Given the description of an element on the screen output the (x, y) to click on. 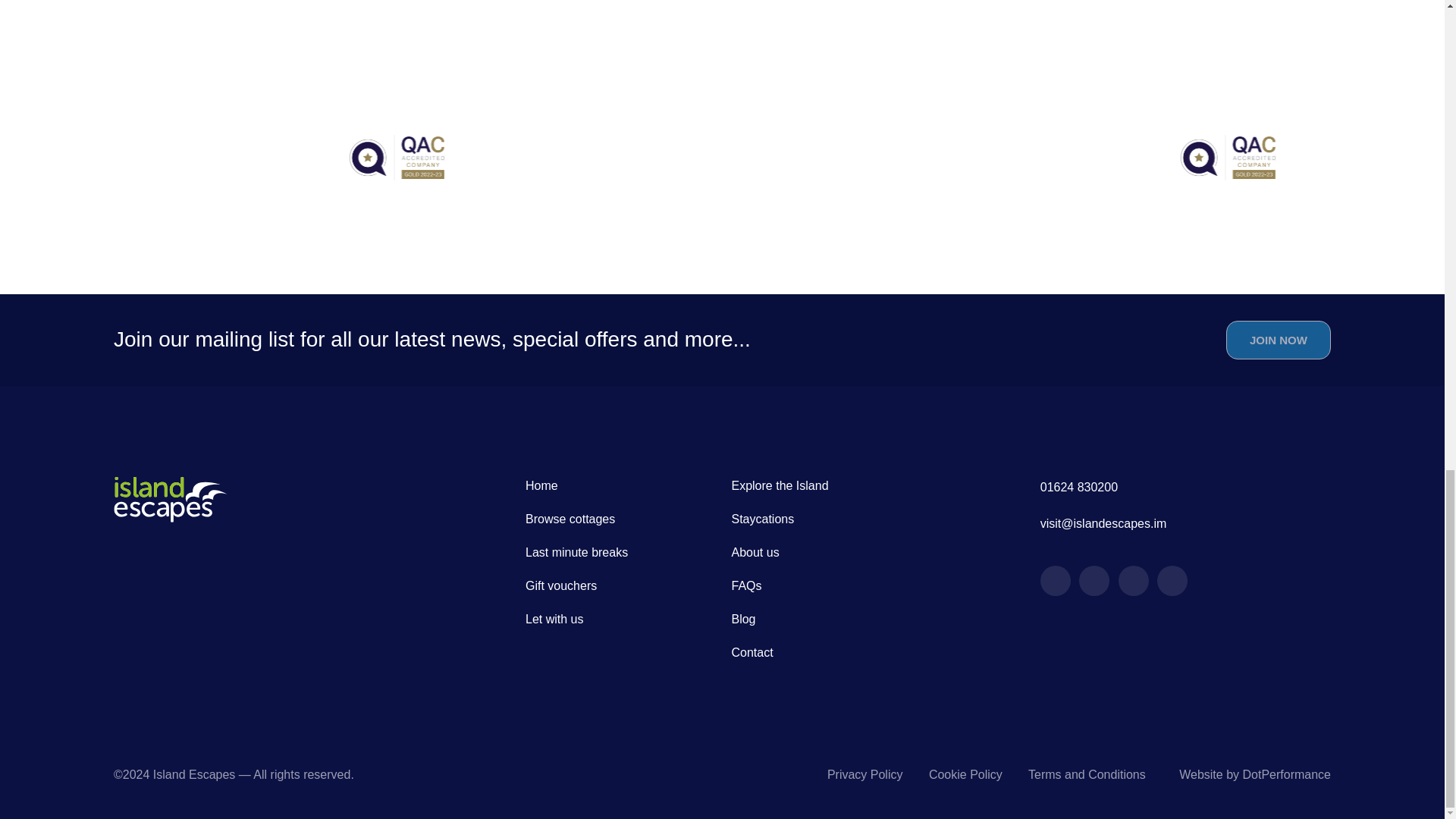
Staycations (761, 518)
Browse cottages (569, 518)
Last minute breaks (576, 552)
Home (541, 485)
Gift vouchers (560, 585)
Follow us on Twitter (1093, 579)
Let with us (554, 618)
JOIN NOW (1277, 340)
Explore the Island (779, 485)
Follow us on YouTube (1172, 579)
